Given the description of an element on the screen output the (x, y) to click on. 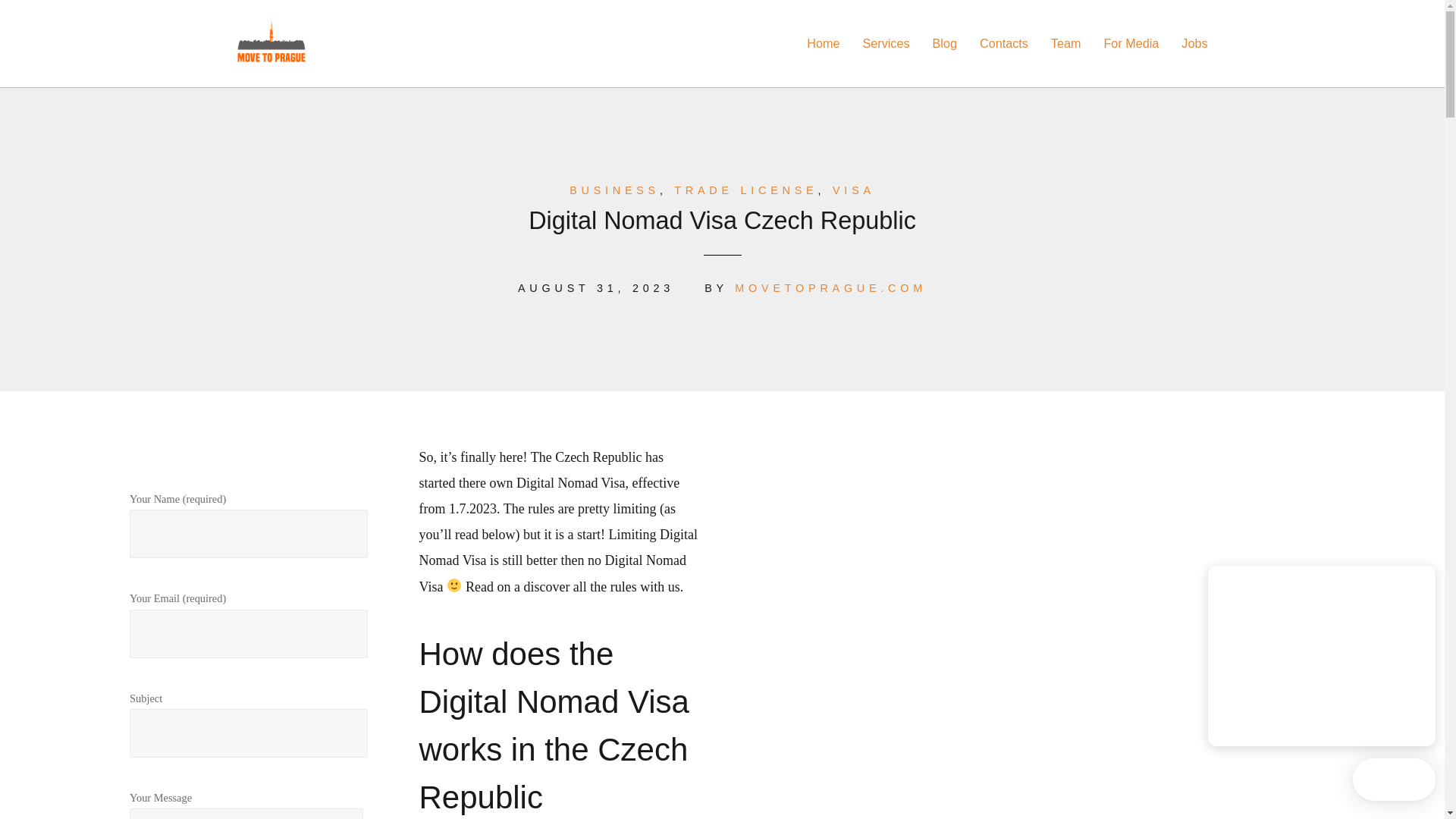
MOVETOPRAGUE.COM (830, 287)
VISA (853, 190)
For Media (1130, 43)
Jobs (1193, 43)
Home (823, 43)
Smartsupp widget popup (1321, 655)
Blog (944, 43)
Contacts (1003, 43)
Smartsupp widget button (1393, 779)
Services (884, 43)
TRADE LICENSE (745, 190)
Team (1066, 43)
BUSINESS (614, 190)
